Given the description of an element on the screen output the (x, y) to click on. 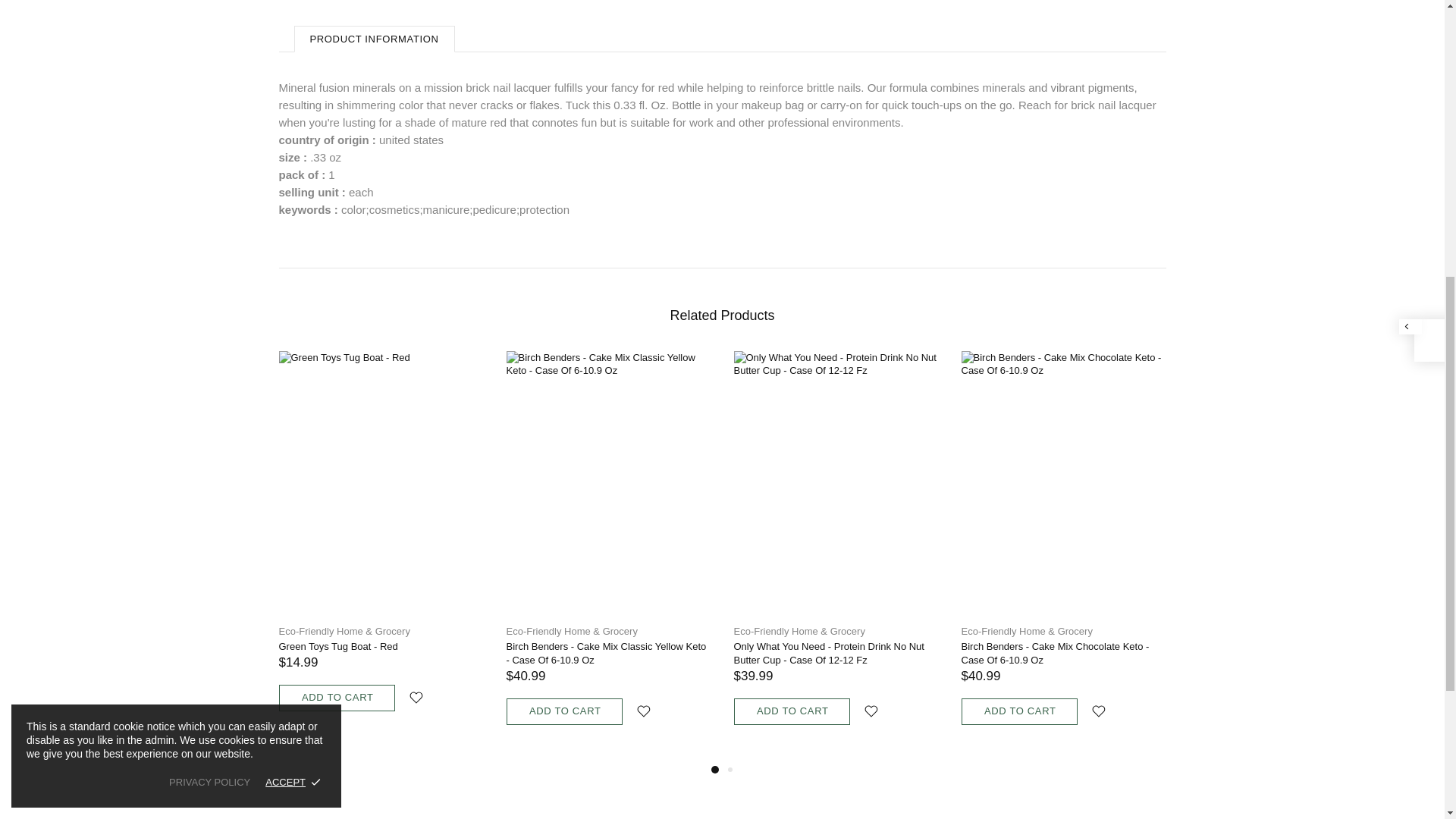
SUBSCRIBE! (889, 170)
